Given the description of an element on the screen output the (x, y) to click on. 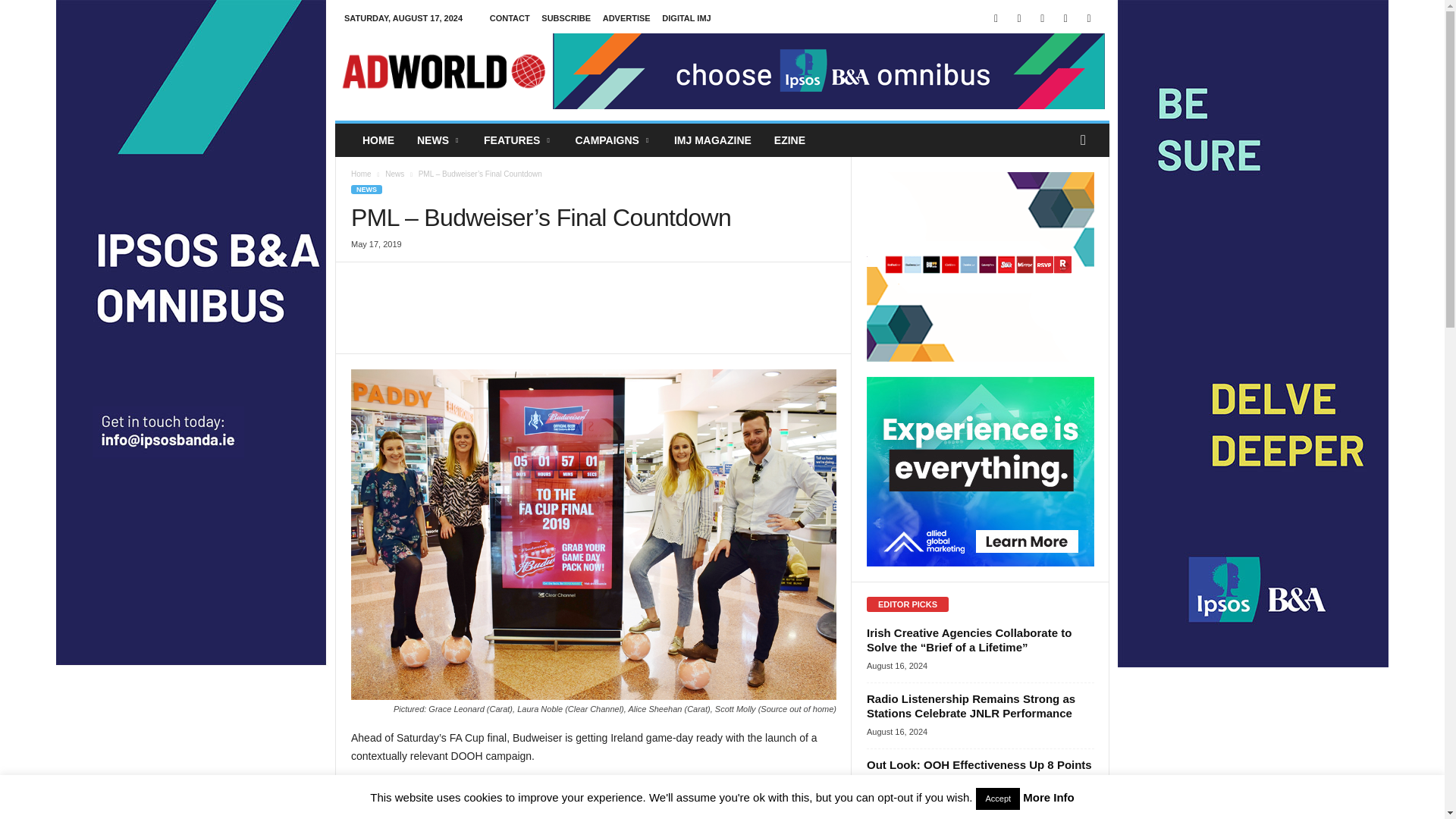
HOME (378, 140)
SUBSCRIBE (566, 17)
CONTACT (509, 17)
NEWS (438, 140)
ADVERTISE (626, 17)
AdWorld.ie (442, 70)
DIGITAL IMJ (686, 17)
Adworld Logo (442, 71)
